Given the description of an element on the screen output the (x, y) to click on. 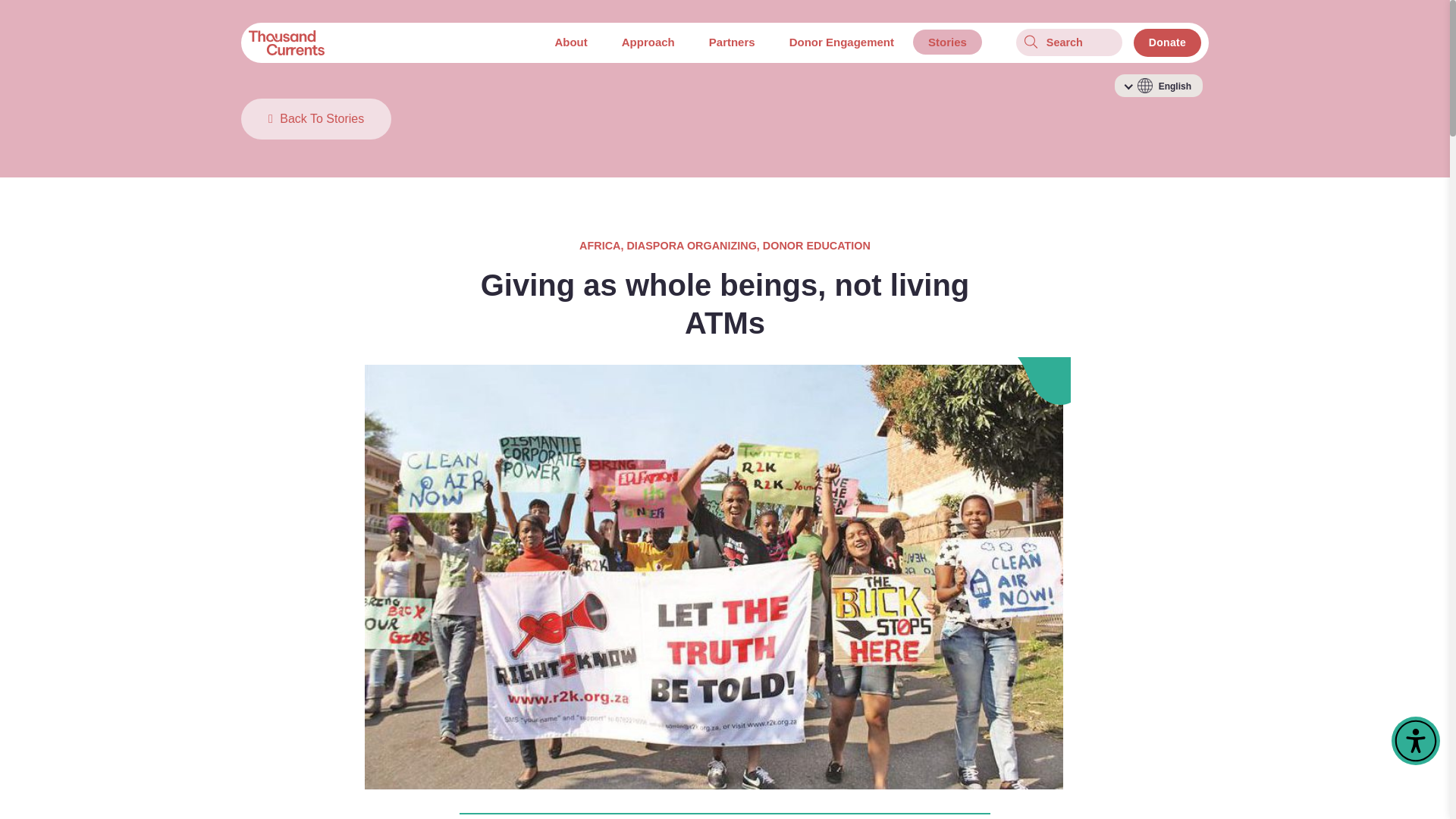
Approach (648, 41)
Accessibility Menu (1415, 740)
Partners (732, 41)
About (570, 41)
Stories (946, 41)
Donate (1167, 42)
Donor Engagement (841, 41)
